Given the description of an element on the screen output the (x, y) to click on. 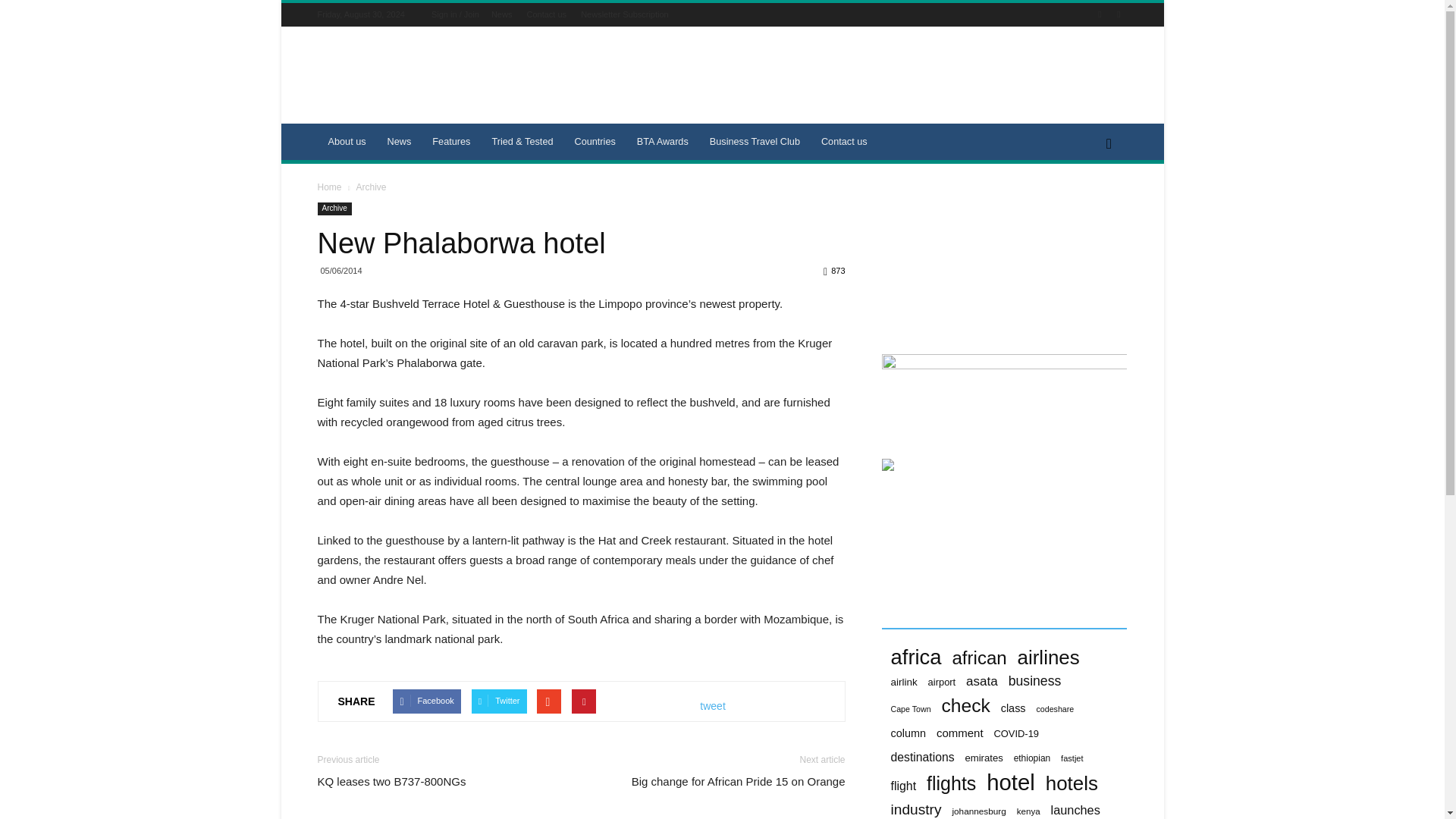
Newsletter Subscription (624, 13)
Facebook (1099, 13)
News (399, 141)
Twitter (1117, 13)
YouTube video player (994, 259)
Contact us (545, 13)
About us (346, 141)
View all posts in Archive (370, 186)
News (502, 13)
